Given the description of an element on the screen output the (x, y) to click on. 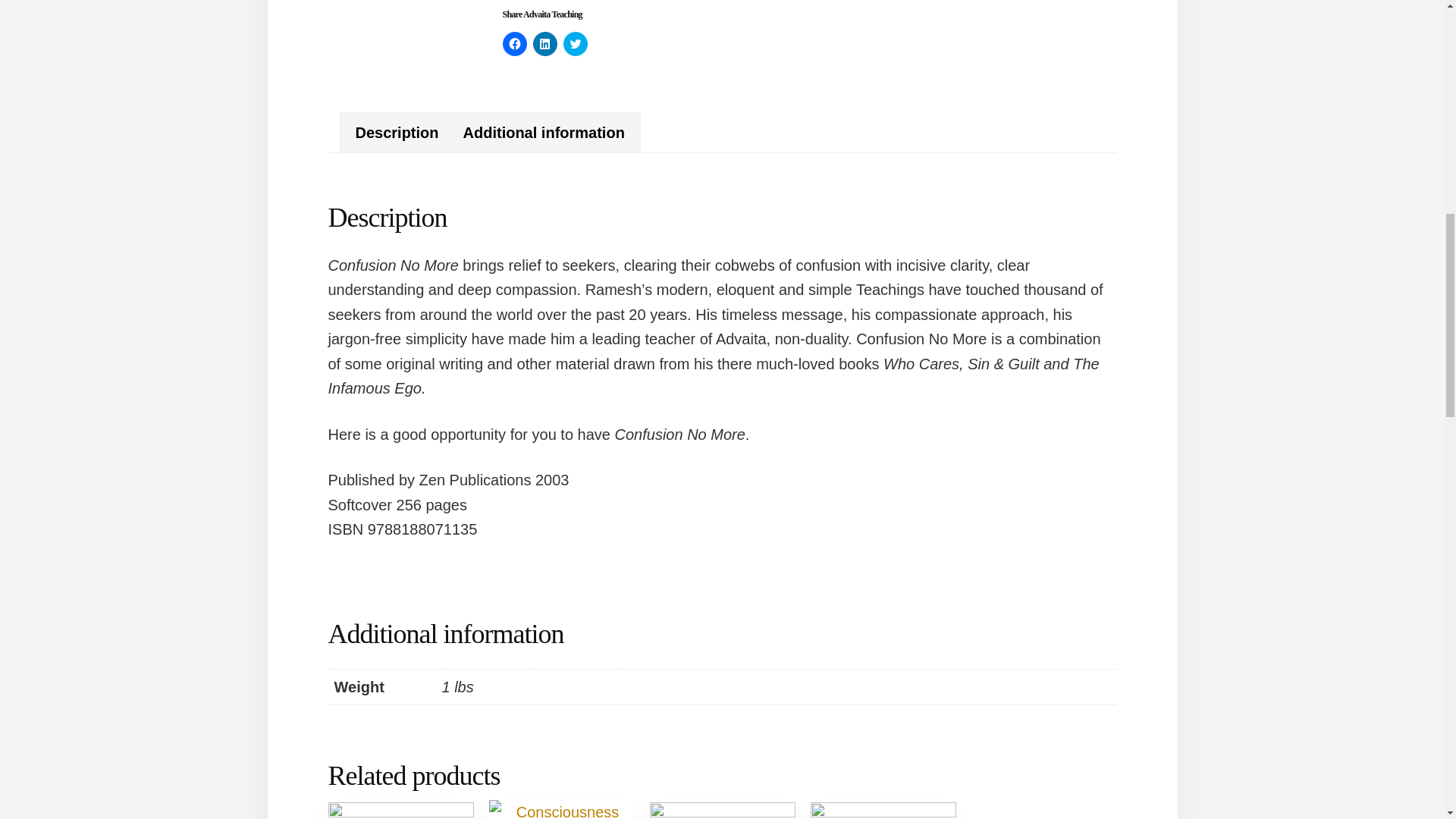
Description (395, 133)
Additional information (544, 133)
Click to share on Twitter (574, 43)
Click to share on Facebook (513, 43)
Click to share on LinkedIn (544, 43)
